Given the description of an element on the screen output the (x, y) to click on. 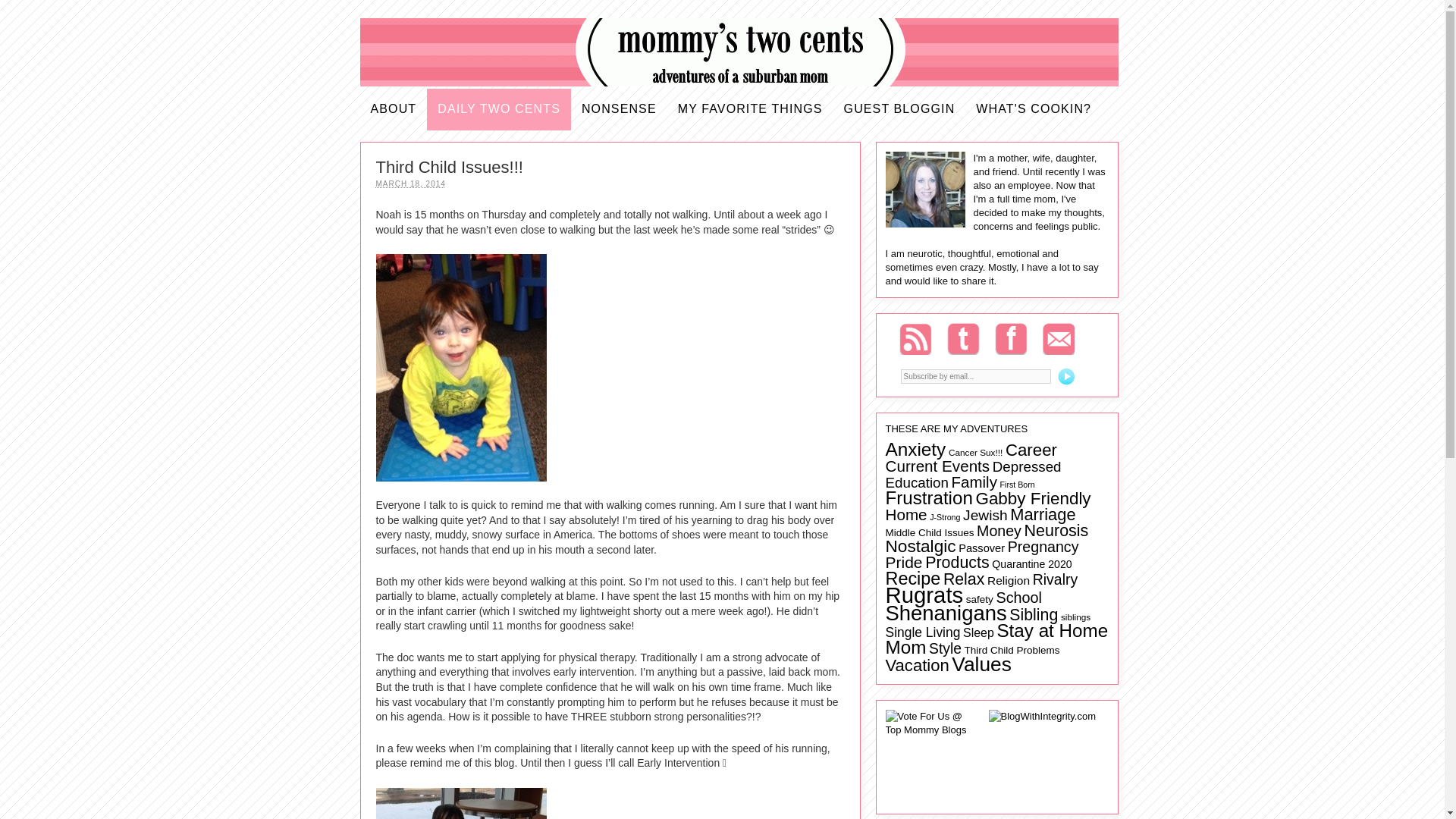
ABOUT (392, 109)
GUEST BLOGGIN (899, 109)
Nostalgic (920, 546)
Anxiety (915, 448)
Neurosis (1057, 530)
21 topics (917, 482)
Current Events (937, 466)
2 topics (944, 516)
Pride (904, 561)
34 topics (906, 514)
